Given the description of an element on the screen output the (x, y) to click on. 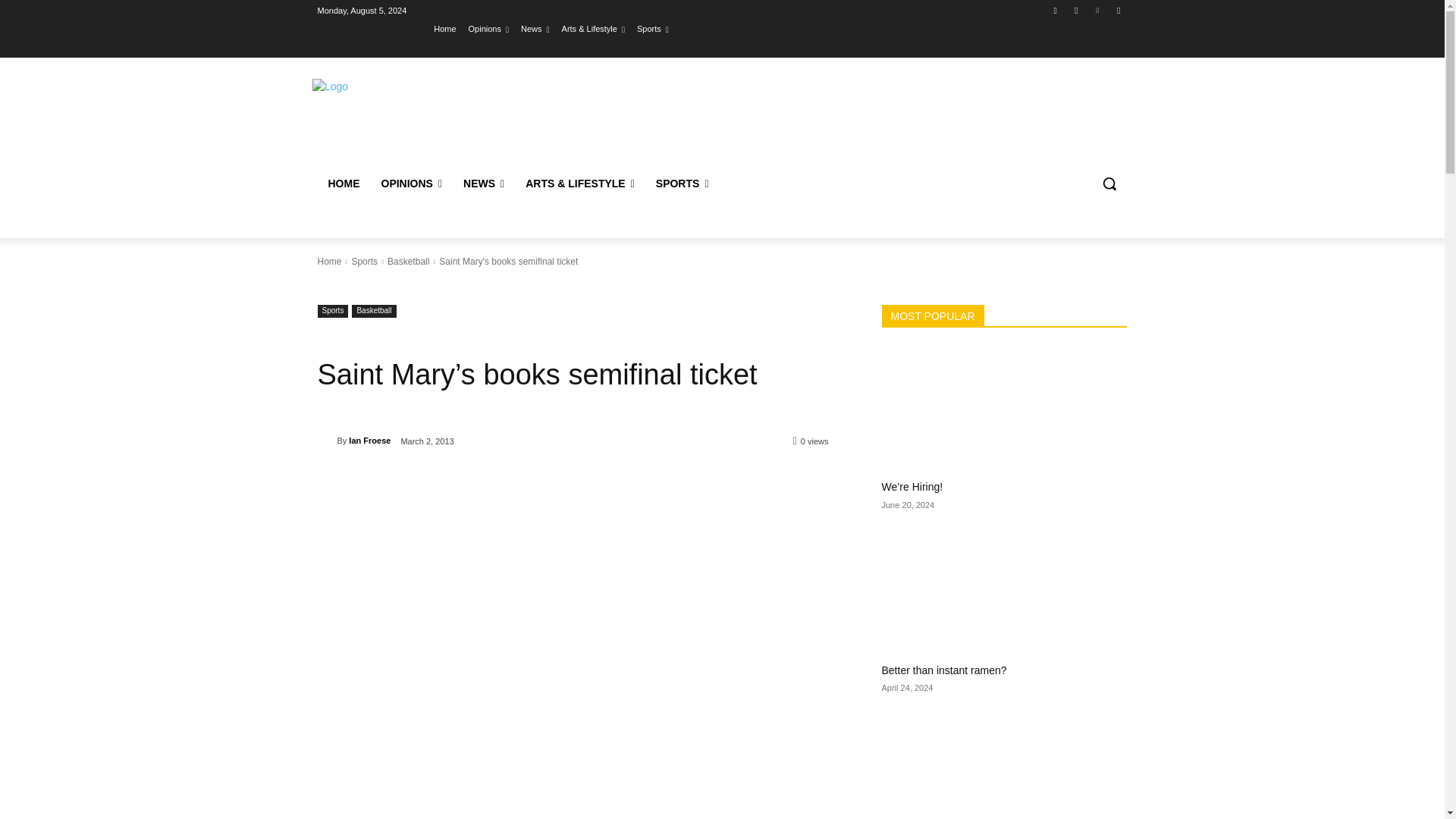
View all posts in Basketball (408, 261)
Opinions (488, 28)
Ian Froese (326, 440)
Youtube (1117, 9)
Twitter (1097, 9)
Home (444, 28)
View all posts in Sports (363, 261)
Instagram (1075, 9)
Facebook (1055, 9)
